Given the description of an element on the screen output the (x, y) to click on. 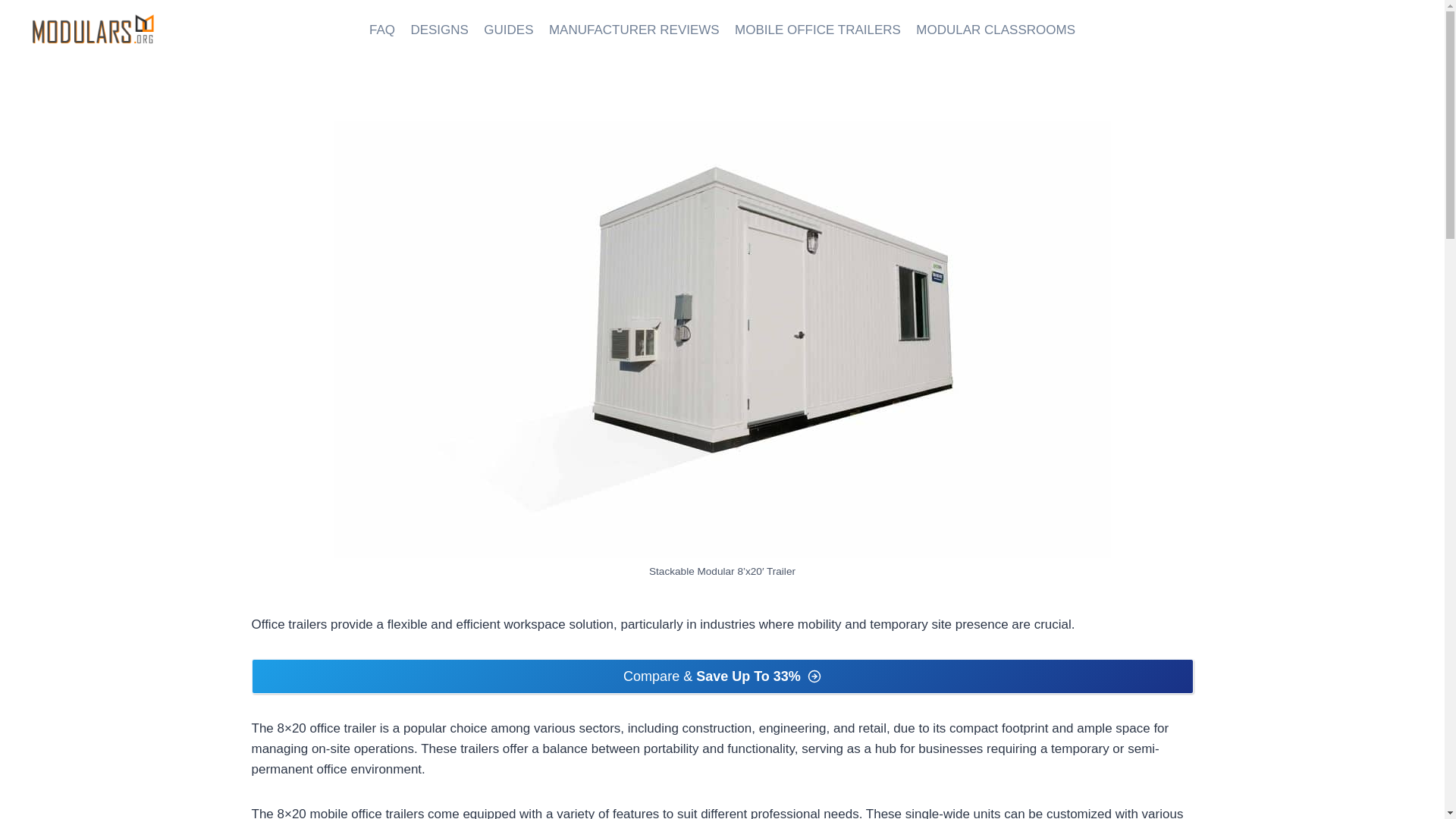
DESIGNS (439, 30)
GUIDES (508, 30)
MOBILE OFFICE TRAILERS (817, 30)
FAQ (382, 30)
MANUFACTURER REVIEWS (633, 30)
MODULAR CLASSROOMS (995, 30)
